Given the description of an element on the screen output the (x, y) to click on. 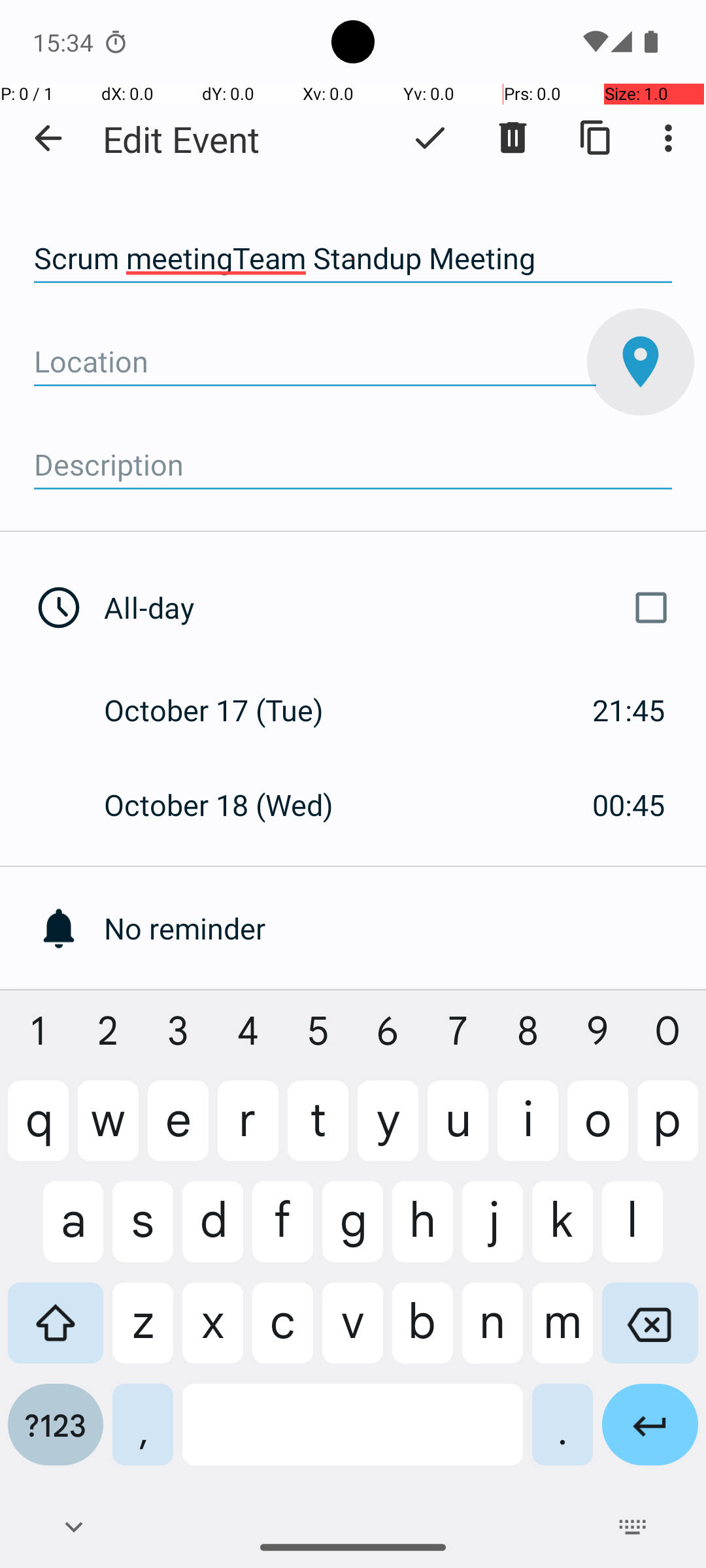
Scrum meetingTeam Standup Meeting Element type: android.widget.EditText (352, 258)
21:45 Element type: android.widget.TextView (628, 709)
00:45 Element type: android.widget.TextView (628, 804)
